Given the description of an element on the screen output the (x, y) to click on. 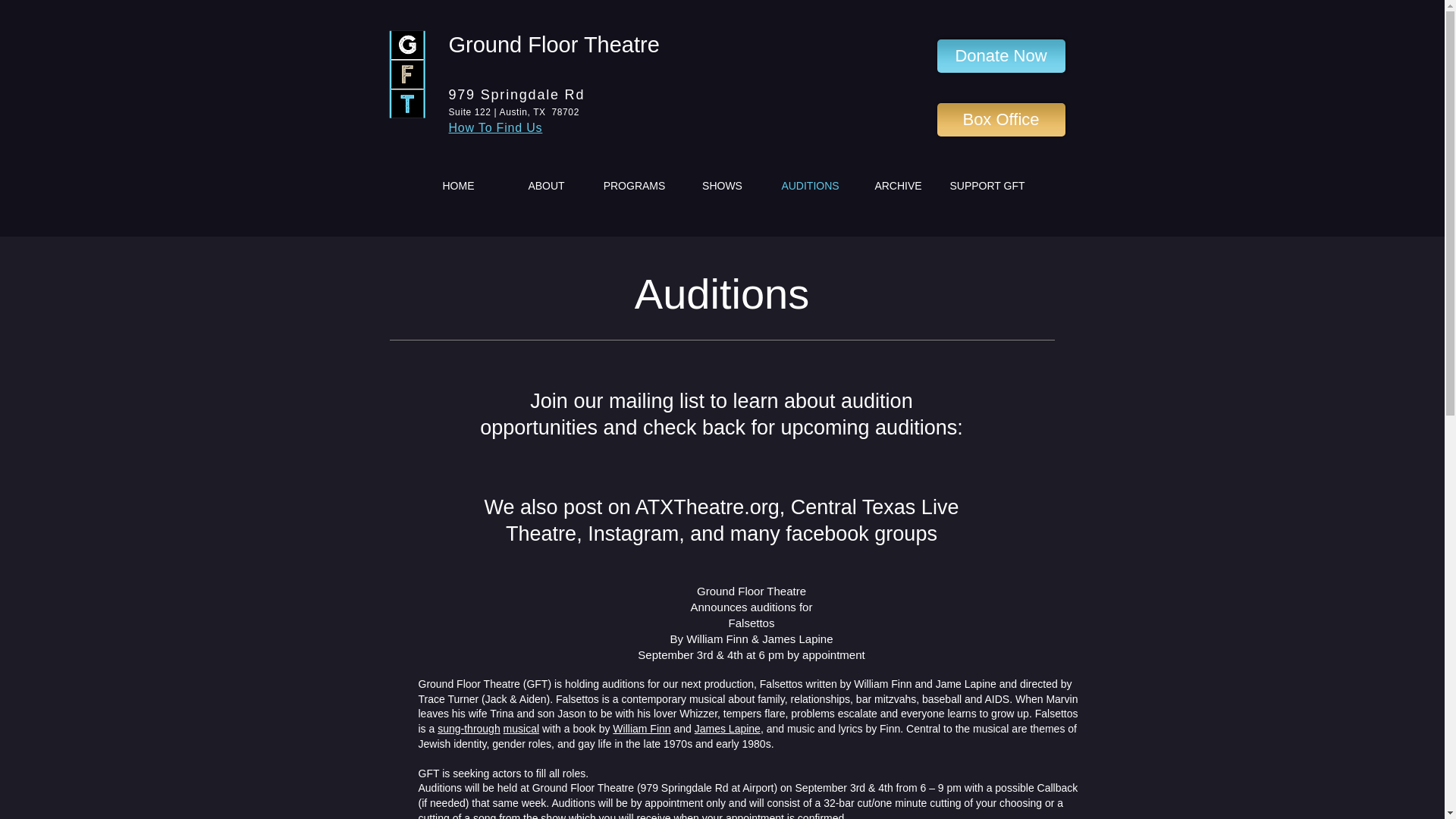
AUDITIONS (809, 185)
Donate Now (1001, 55)
HOME (457, 185)
musical (520, 728)
Ground Floor Theatre (553, 44)
sung-through (469, 728)
James Lapine (727, 728)
Box Office (1001, 119)
How To Find Us (495, 127)
William Finn (640, 728)
